Given the description of an element on the screen output the (x, y) to click on. 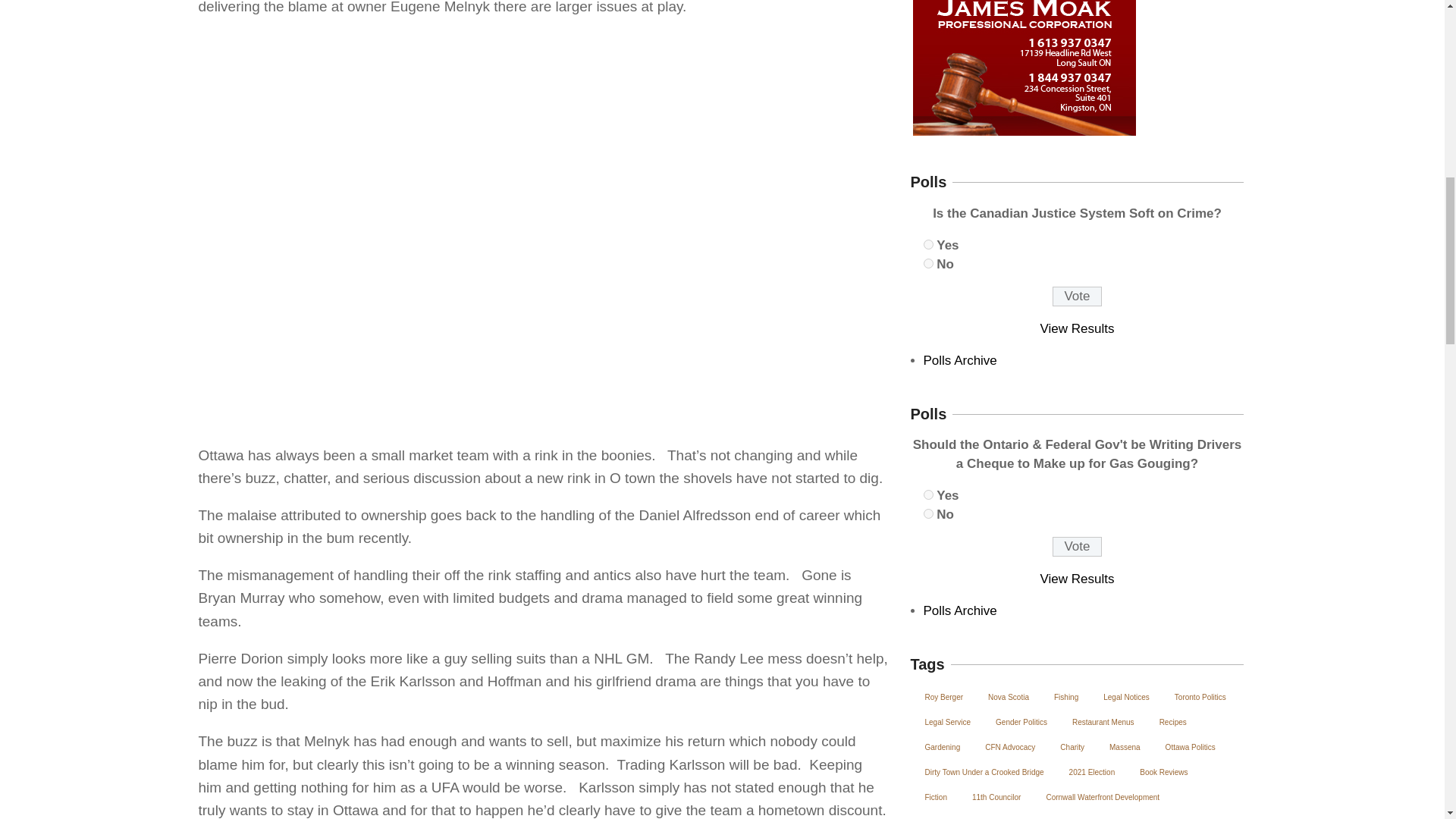
View Results Of This Poll (1078, 578)
View Results Of This Poll (1078, 328)
   Vote    (1076, 296)
1763 (928, 513)
1754 (928, 244)
1762 (928, 494)
1755 (928, 263)
   Vote    (1076, 546)
